Given the description of an element on the screen output the (x, y) to click on. 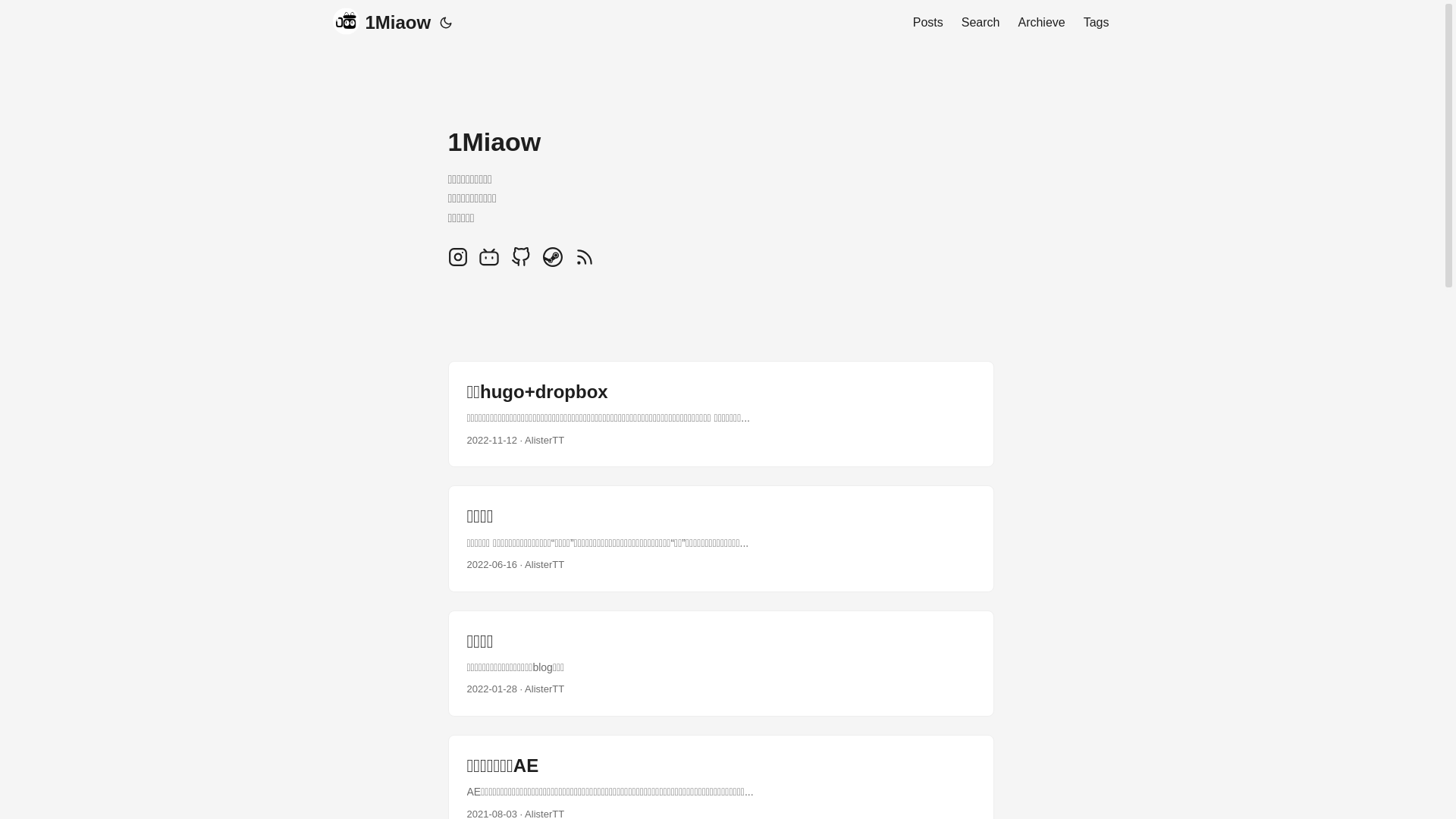
Bilibili Element type: hover (490, 263)
Posts Element type: text (928, 22)
Steam Element type: hover (553, 263)
Github Element type: hover (522, 263)
Archieve Element type: text (1040, 22)
1Miaow Element type: text (381, 22)
Search Element type: text (980, 22)
Instagram Element type: hover (458, 263)
(Alt + T) Element type: hover (445, 22)
Tags Element type: text (1096, 22)
RSS Element type: hover (584, 263)
